Given the description of an element on the screen output the (x, y) to click on. 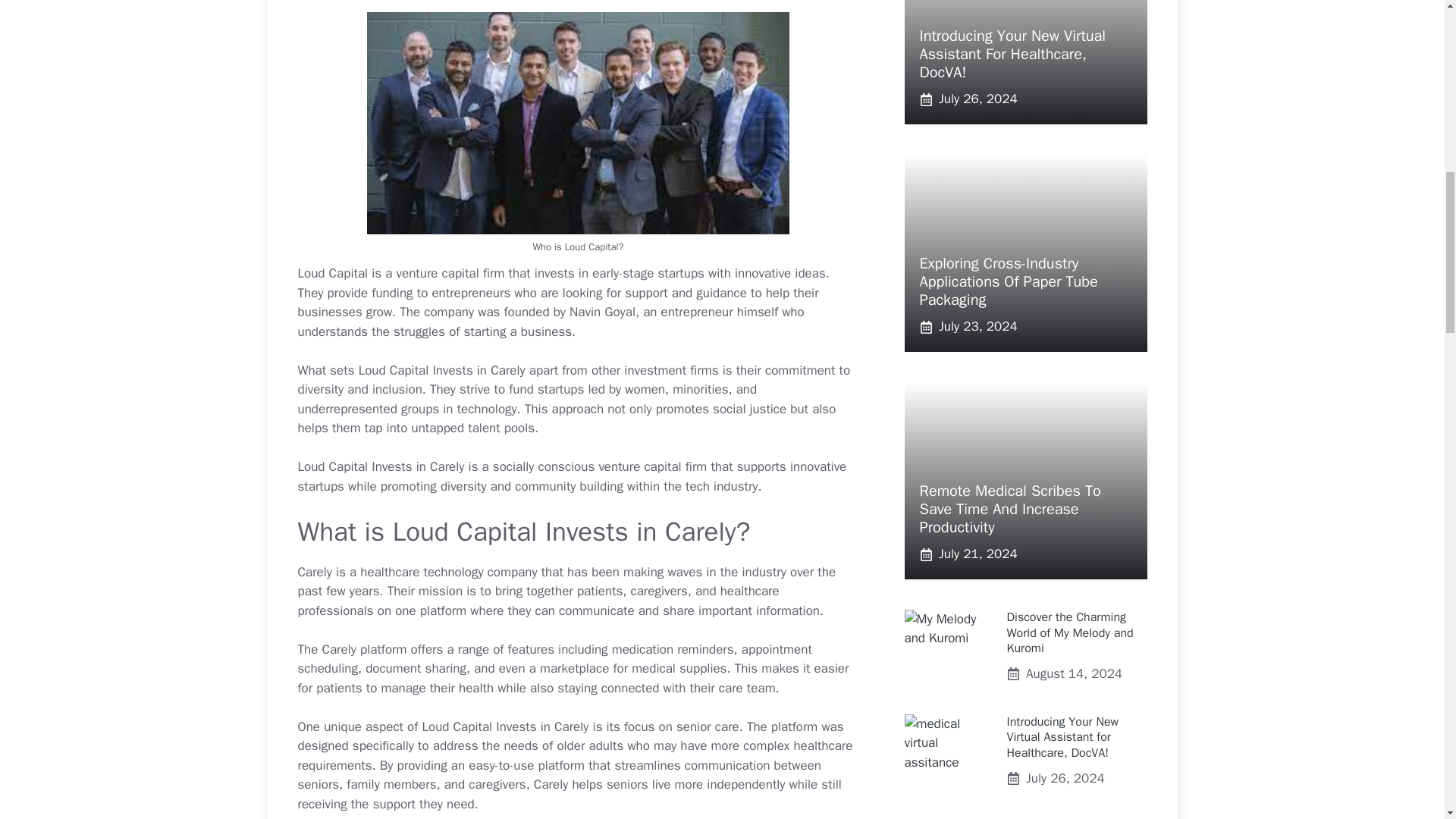
Scroll back to top (1406, 720)
Discover the Charming World of My Melody and Kuromi (1070, 632)
